Given the description of an element on the screen output the (x, y) to click on. 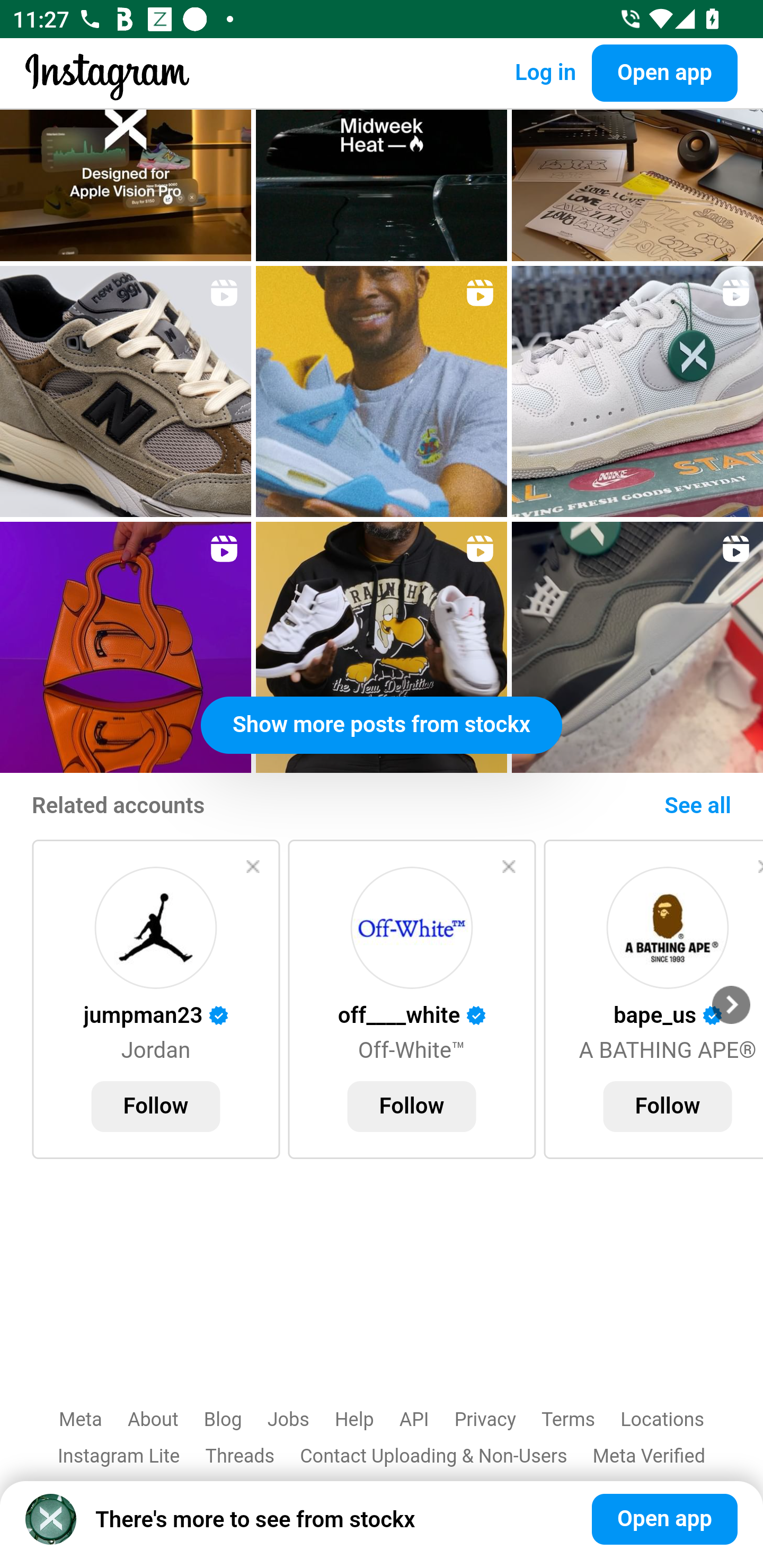
See all (697, 807)
Next (731, 1005)
Meta (80, 1419)
About (153, 1419)
Blog (223, 1419)
Jobs (288, 1419)
Help (354, 1419)
API (413, 1419)
Privacy (484, 1419)
Terms (567, 1419)
Locations (661, 1419)
Instagram Lite (119, 1455)
Threads (239, 1455)
Contact Uploading & Non-Users (433, 1455)
Meta Verified (648, 1455)
